Given the description of an element on the screen output the (x, y) to click on. 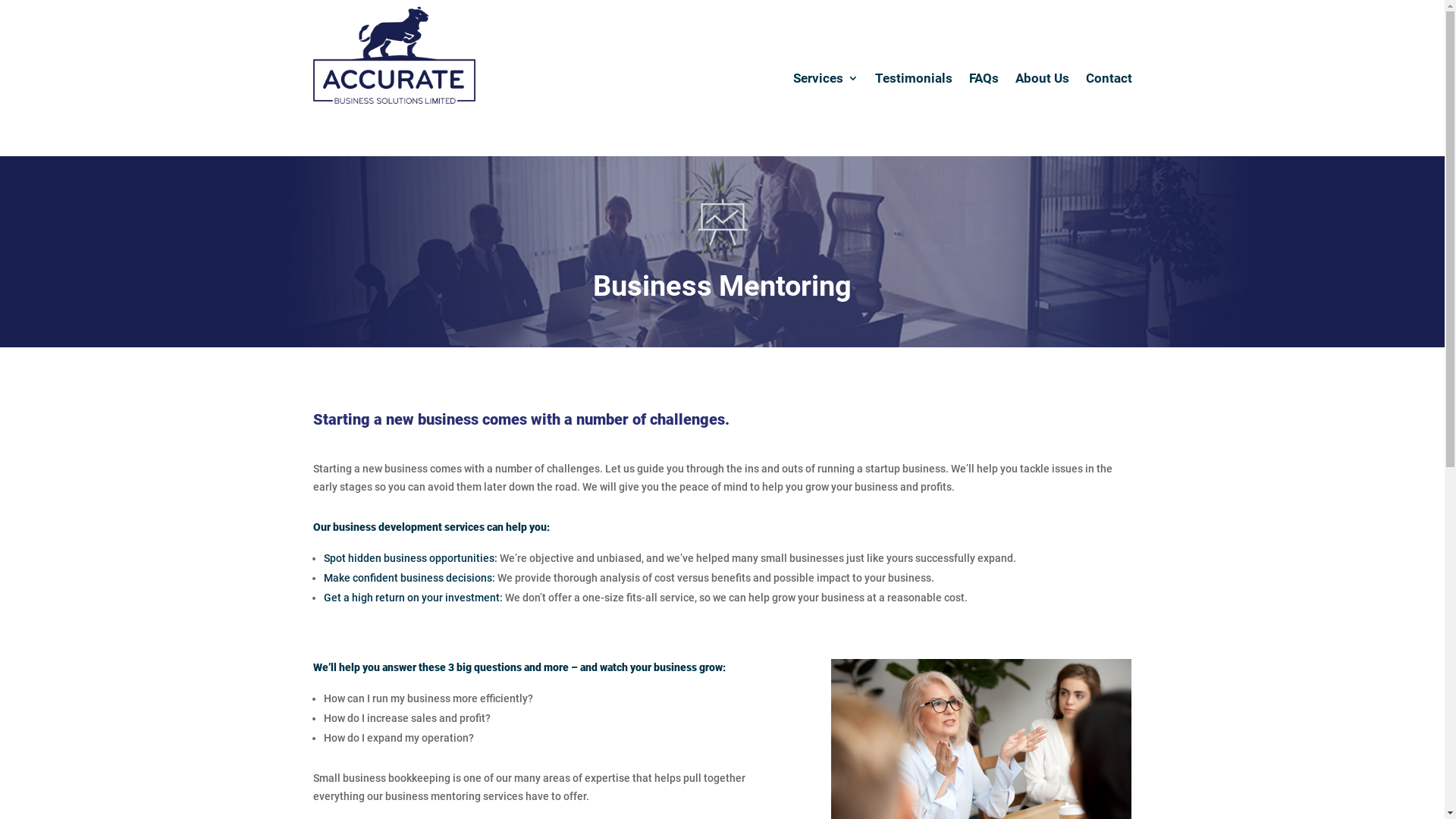
Testimonials Element type: text (913, 78)
Services Element type: text (825, 78)
Skip to content Element type: text (0, 0)
About Us Element type: text (1041, 78)
FAQs Element type: text (983, 78)
Contact Element type: text (1108, 78)
